Given the description of an element on the screen output the (x, y) to click on. 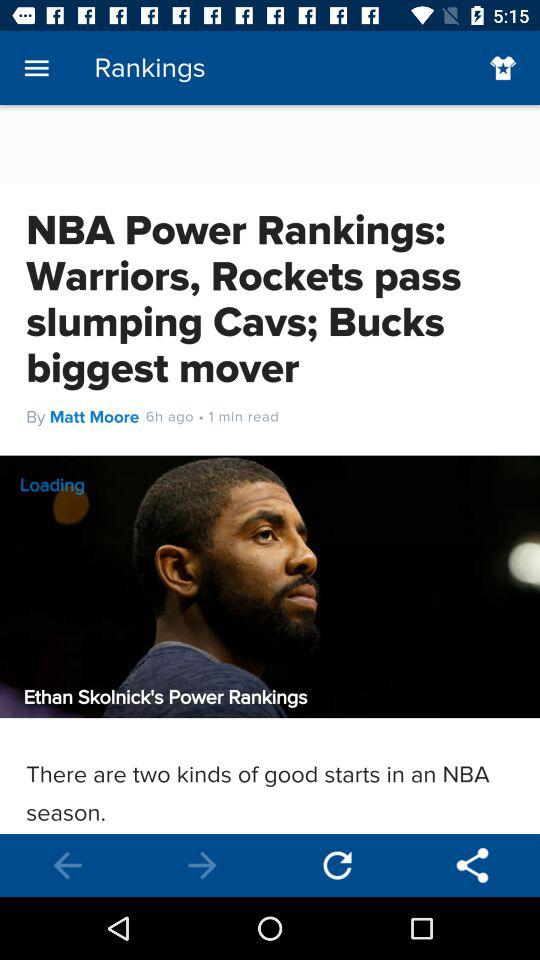
go forward (202, 865)
